Given the description of an element on the screen output the (x, y) to click on. 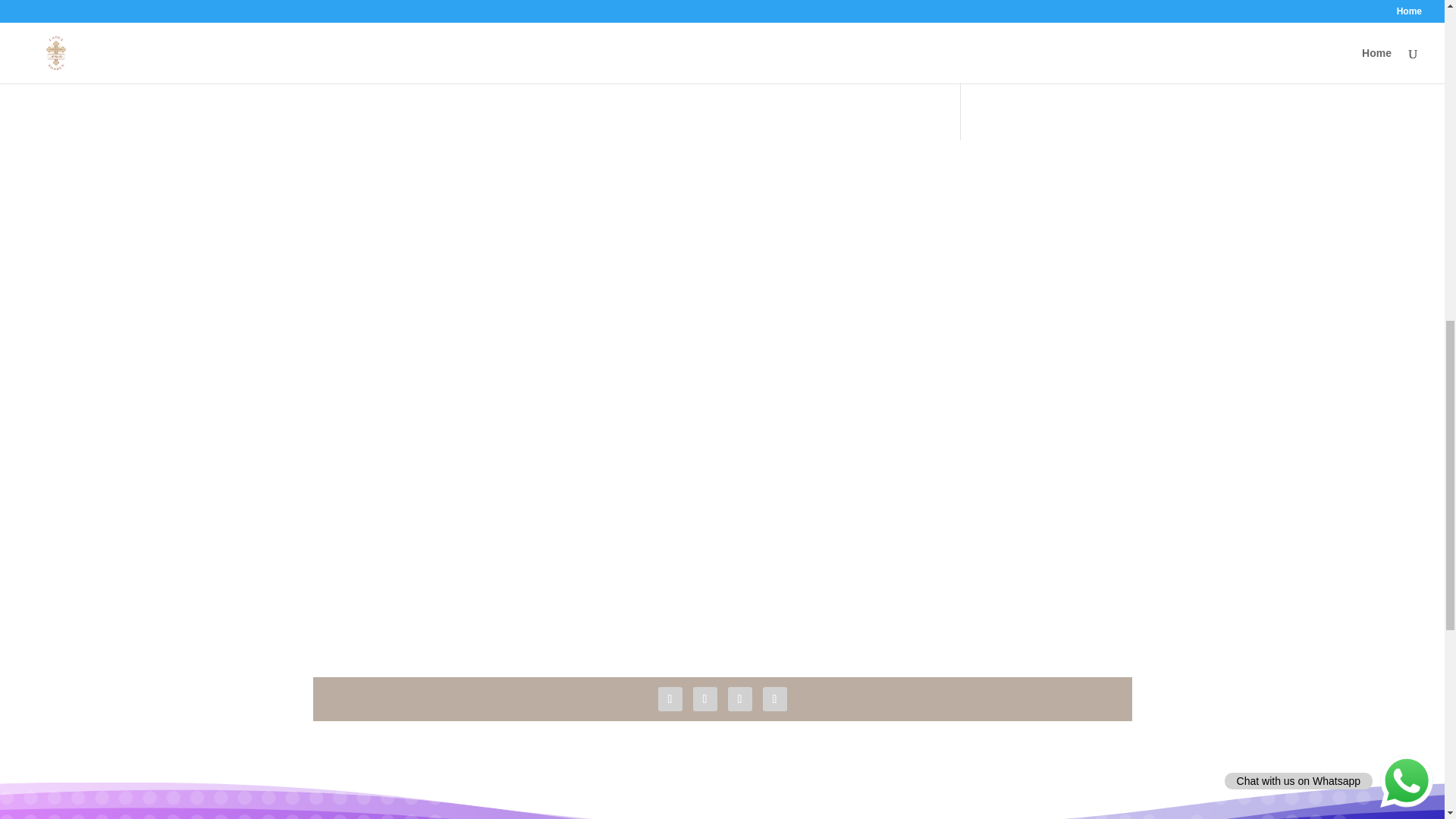
Follow on Youtube (740, 699)
Follow on Twitter (705, 699)
Follow on Instagram (774, 699)
Follow on Facebook (670, 699)
